Given the description of an element on the screen output the (x, y) to click on. 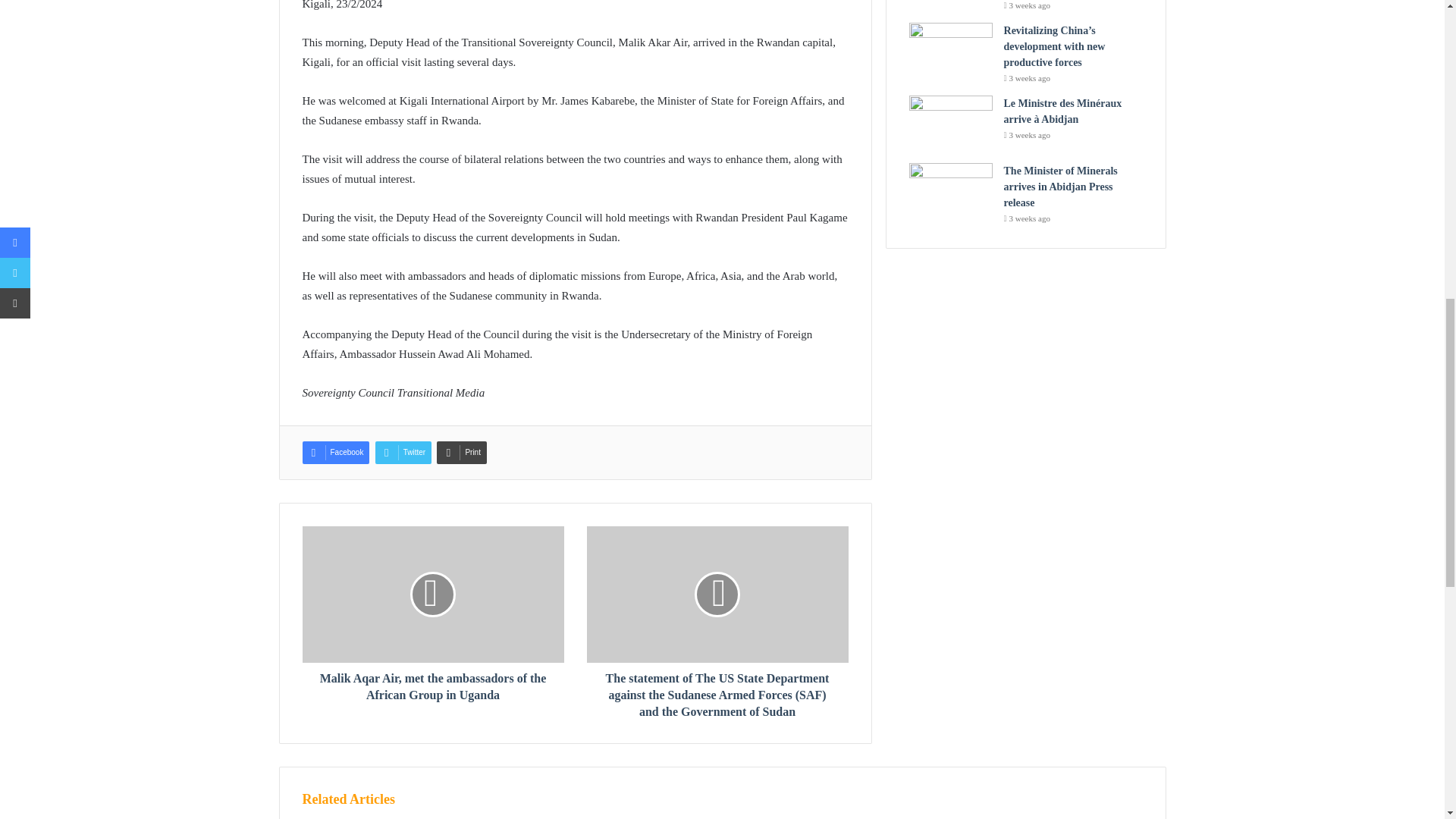
Print (461, 452)
Print (461, 452)
Twitter (402, 452)
Facebook (335, 452)
Twitter (402, 452)
Facebook (335, 452)
